Given the description of an element on the screen output the (x, y) to click on. 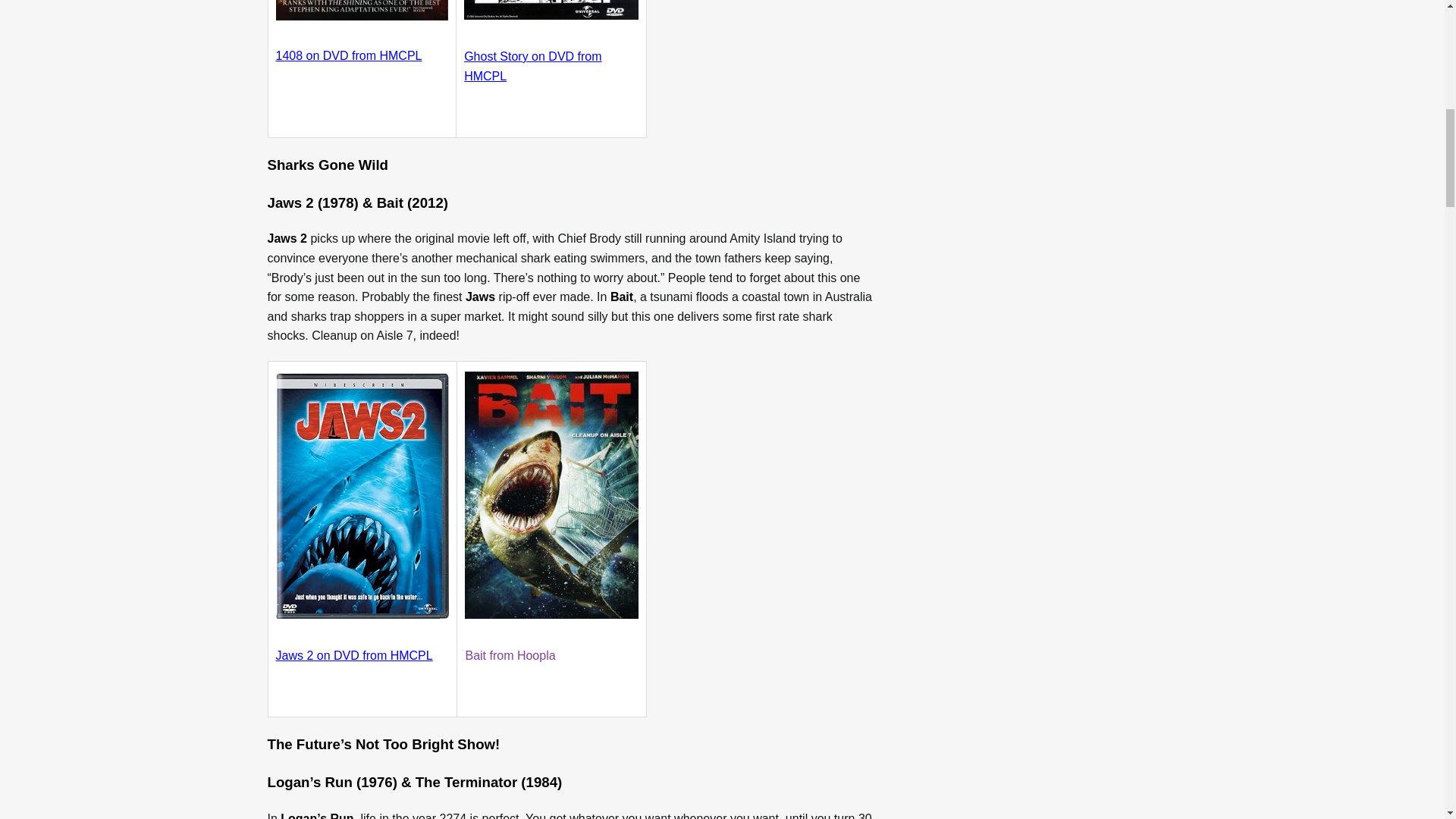
Bait from Hoopla (509, 655)
1408 on DVD from HMCPL (349, 55)
Ghost Story on DVD from HMCPL (532, 65)
Jaws 2 on DVD from HMCPL (354, 655)
